Given the description of an element on the screen output the (x, y) to click on. 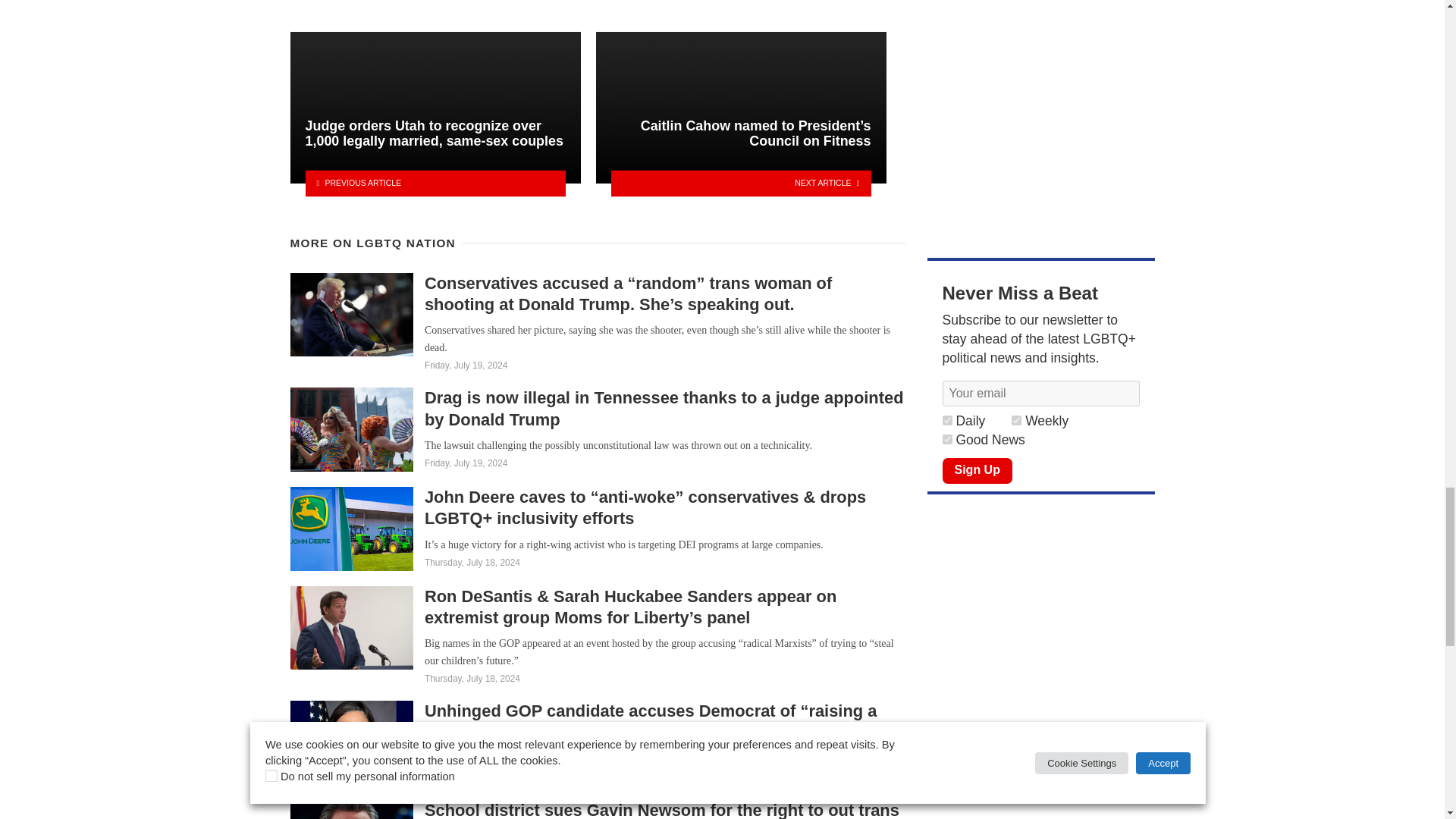
1920883 (947, 439)
Sign Up (976, 470)
1920885 (947, 420)
1920884 (1016, 420)
